Given the description of an element on the screen output the (x, y) to click on. 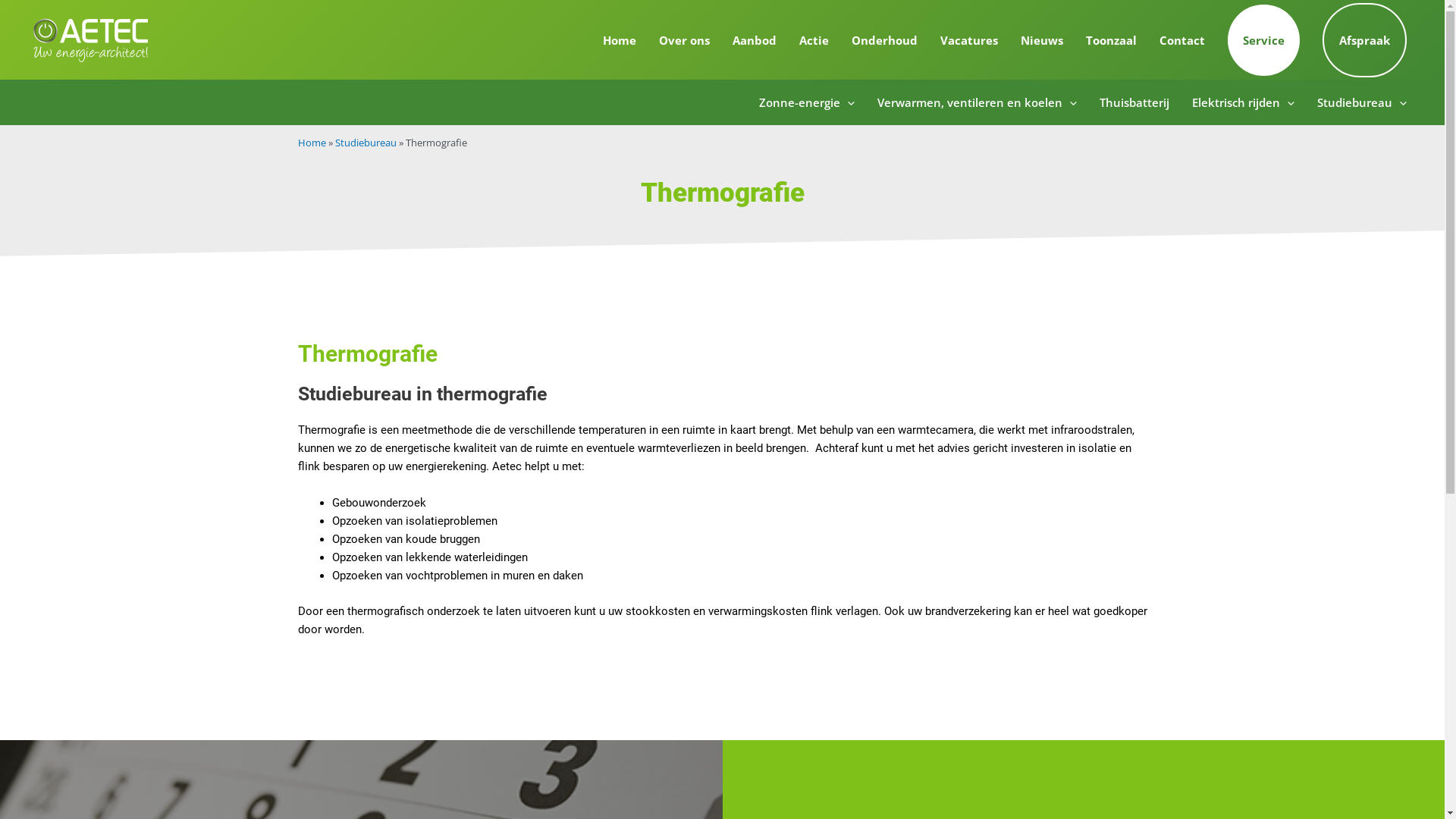
Service Element type: text (1263, 40)
Afspraak Element type: text (1364, 40)
Home Element type: text (619, 40)
Toonzaal Element type: text (1111, 40)
Nieuws Element type: text (1041, 40)
Thuisbatterij Element type: text (1134, 102)
Contact Element type: text (1182, 40)
Onderhoud Element type: text (884, 40)
Actie Element type: text (813, 40)
Aanbod Element type: text (754, 40)
Zonne-energie Element type: text (806, 102)
Studiebureau Element type: text (1361, 102)
Elektrisch rijden Element type: text (1242, 102)
Vacatures Element type: text (968, 40)
Studiebureau Element type: text (365, 142)
Verwarmen, ventileren en koelen Element type: text (977, 102)
Over ons Element type: text (684, 40)
Home Element type: text (311, 142)
